Given the description of an element on the screen output the (x, y) to click on. 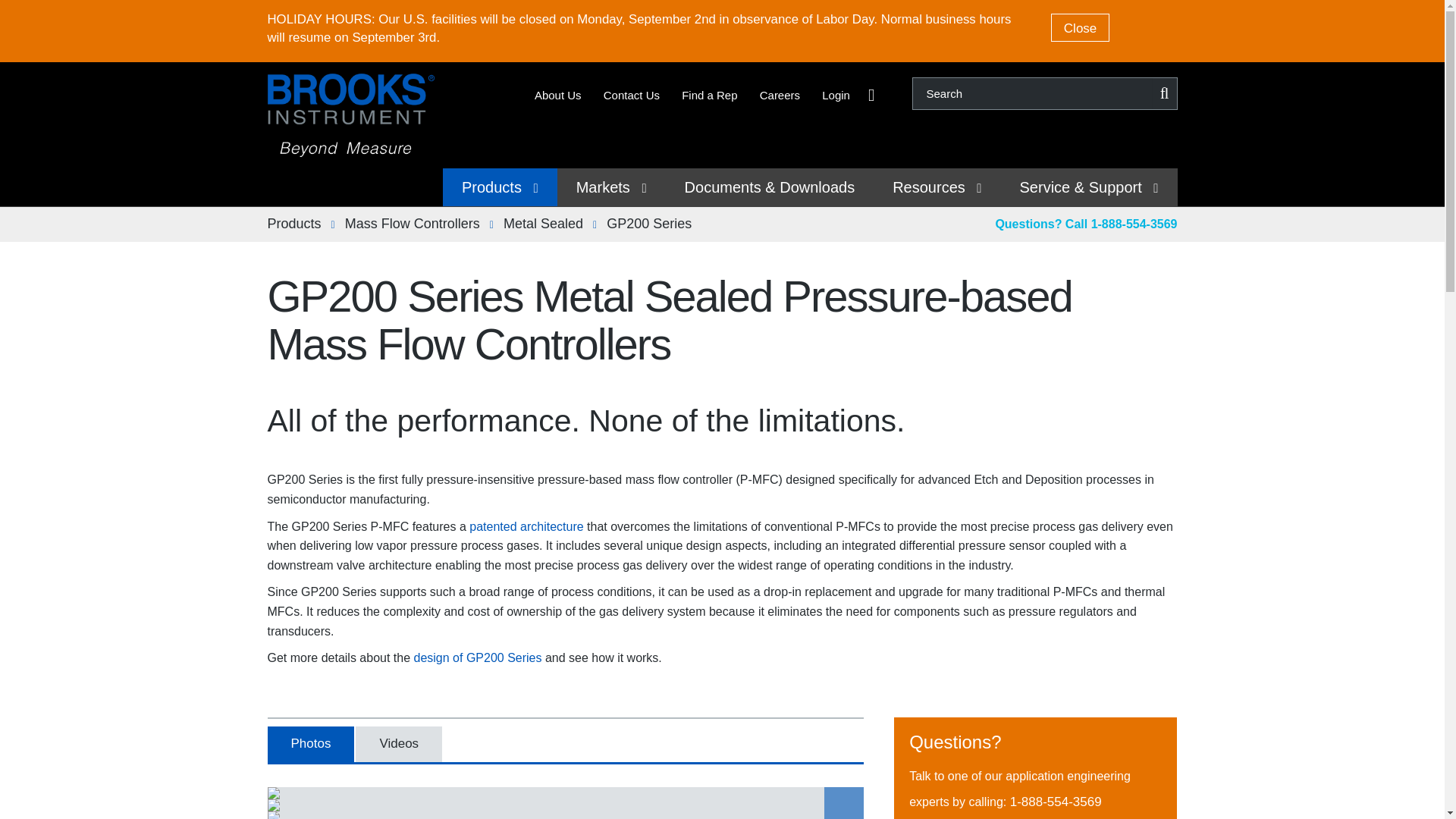
Find a Rep (708, 95)
Contact Us (631, 95)
Careers (779, 95)
Markets (611, 187)
Products (499, 187)
Login (836, 95)
About Us (557, 95)
Close (1080, 27)
